Given the description of an element on the screen output the (x, y) to click on. 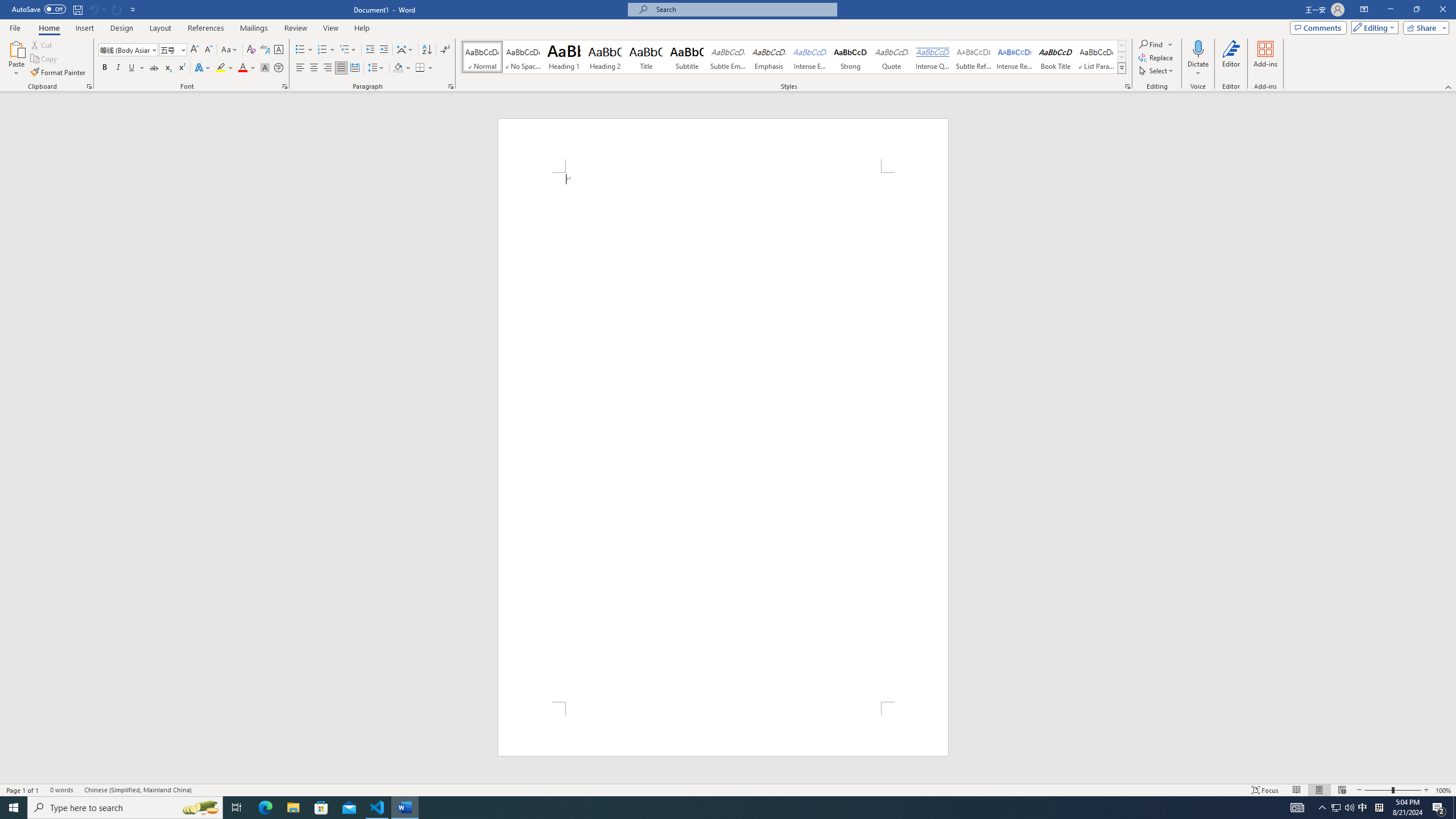
Quote (891, 56)
Intense Reference (1014, 56)
Book Title (1055, 56)
Emphasis (768, 56)
